Given the description of an element on the screen output the (x, y) to click on. 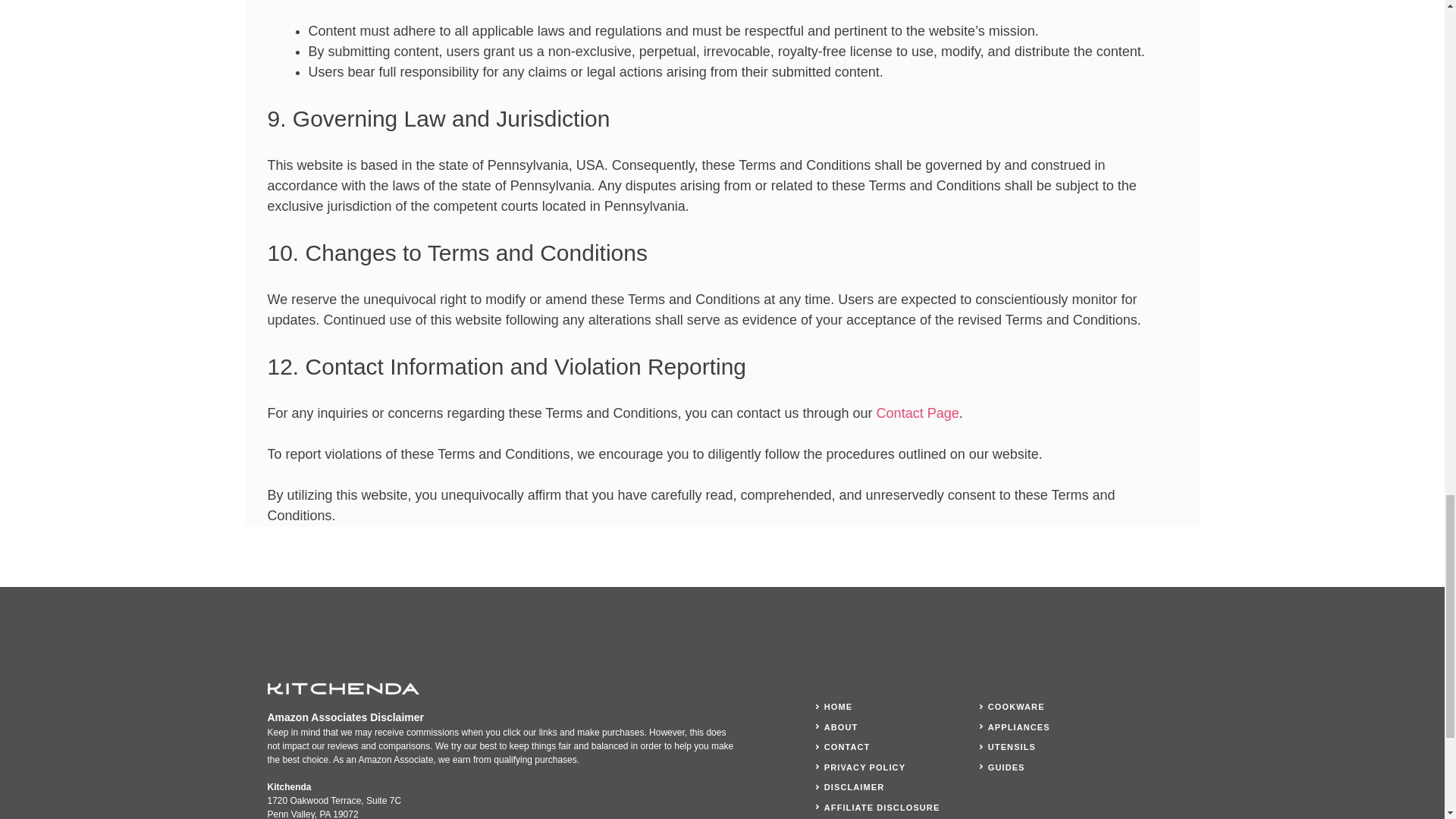
PRIVACY POLICY (864, 767)
CONTACT (847, 746)
Contact Page (917, 412)
COOKWARE (1016, 706)
UTENSILS (1011, 746)
APPLIANCES (1018, 726)
DISCLAIMER (853, 786)
ABOUT (841, 726)
AFFILIATE DISCLOSURE (882, 806)
HOME (837, 706)
GUIDES (1006, 767)
